Given the description of an element on the screen output the (x, y) to click on. 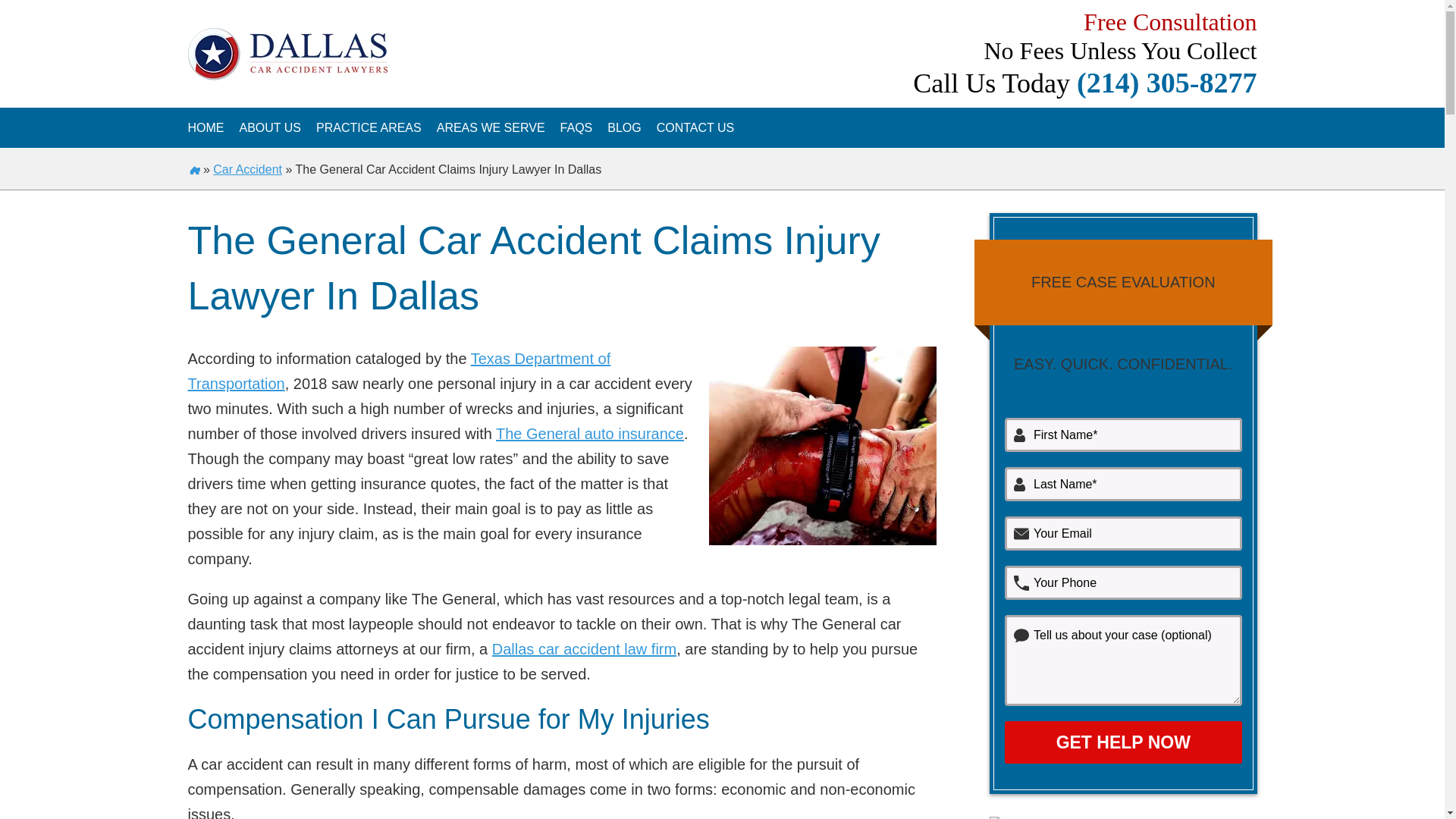
HOME (205, 127)
PRACTICE AREAS (368, 127)
Dallas Car Accident Lawyers (205, 127)
Get Help Now (1122, 742)
Dallas Car Accident Legal Representation  (270, 127)
ABOUT US (270, 127)
AREAS WE SERVE (490, 127)
